Given the description of an element on the screen output the (x, y) to click on. 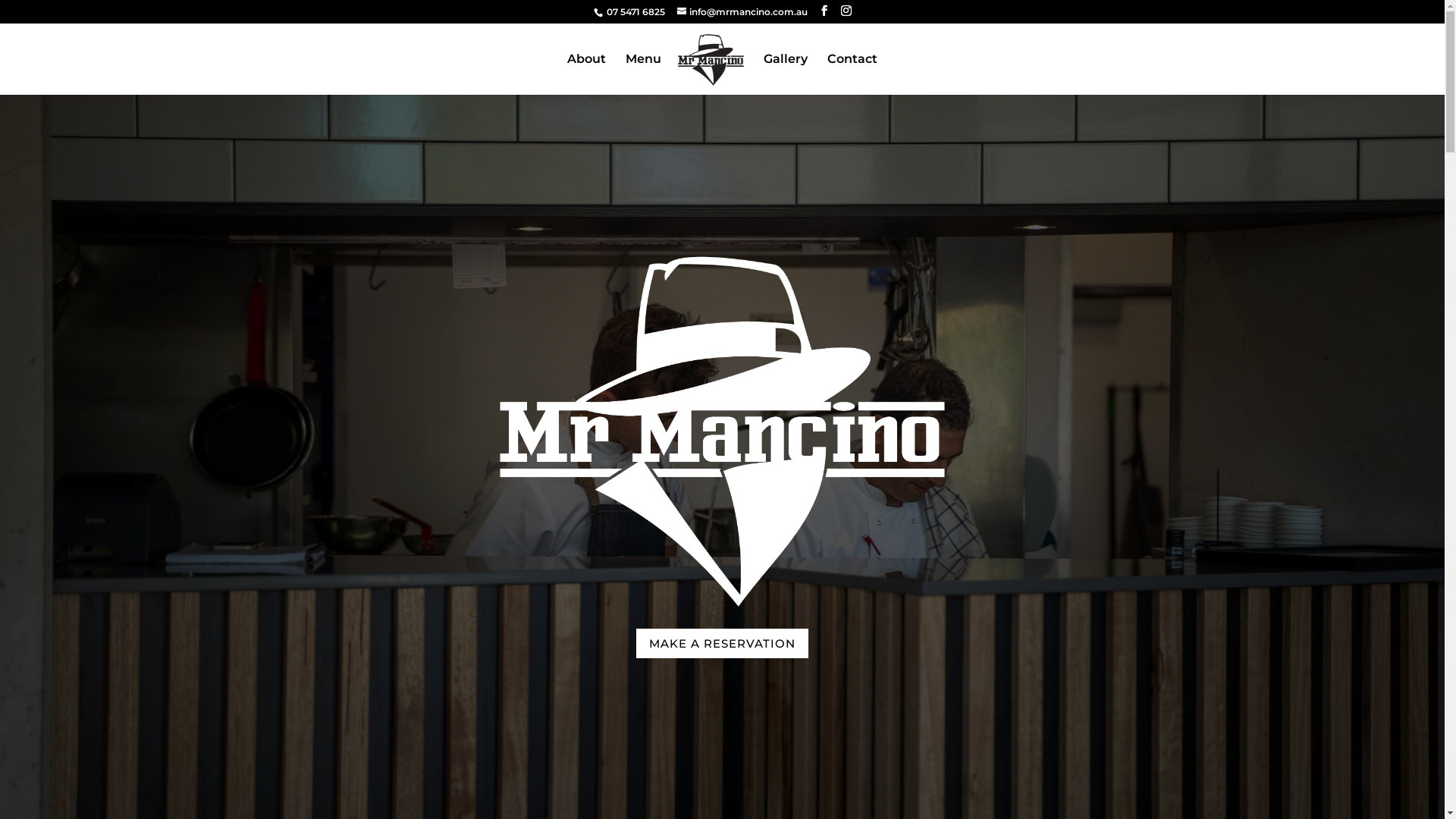
07 5471 6825 Element type: text (635, 11)
About Element type: text (586, 73)
Gallery Element type: text (785, 73)
Contact Element type: text (852, 73)
MAKE A RESERVATION Element type: text (722, 643)
Menu Element type: text (643, 73)
info@mrmancino.com.au Element type: text (741, 11)
